Given the description of an element on the screen output the (x, y) to click on. 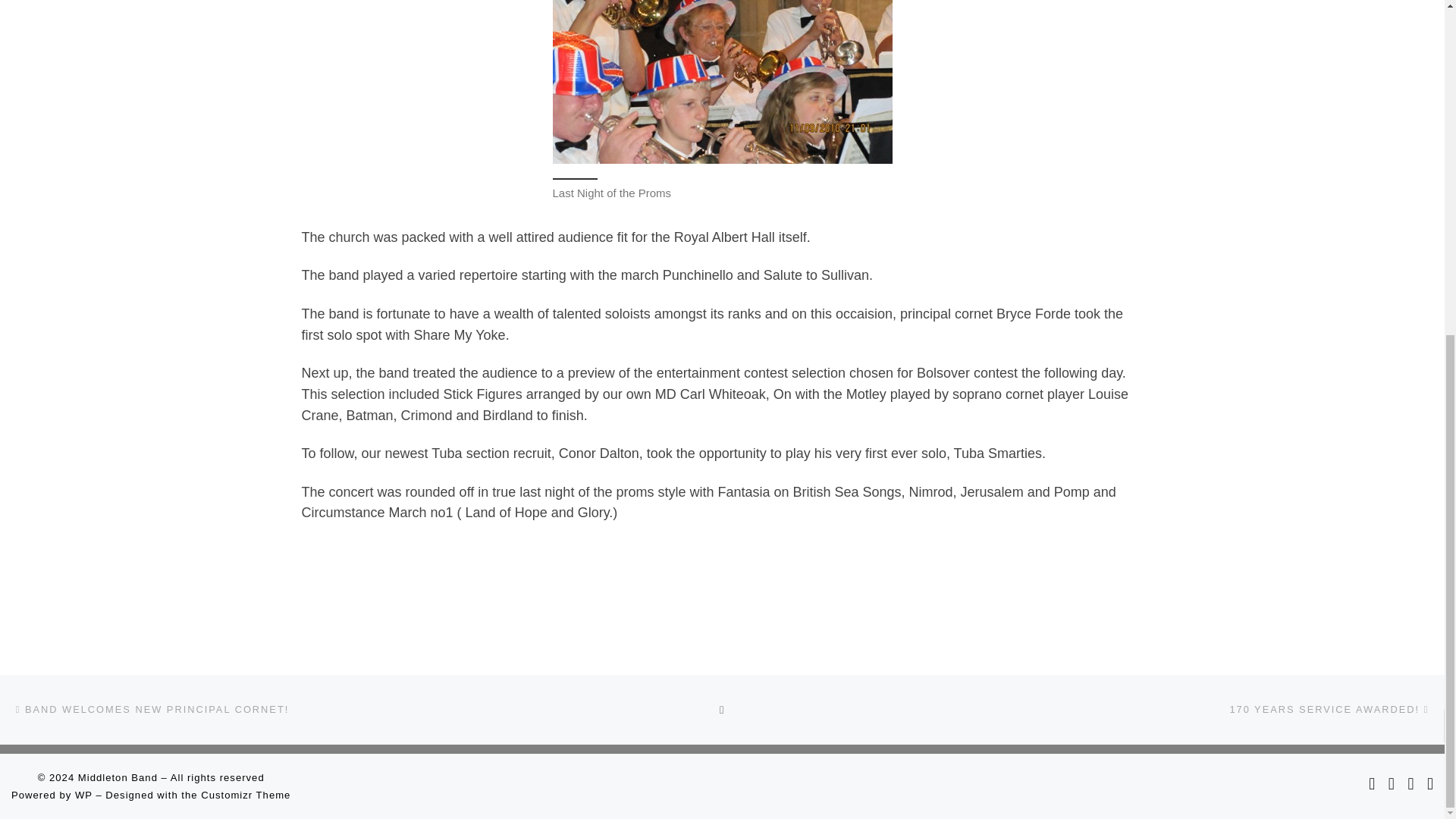
Powered by WordPress (84, 794)
Middleton Band (117, 777)
Customizr Theme (244, 794)
The back row Bugle corp!  (721, 81)
